Given the description of an element on the screen output the (x, y) to click on. 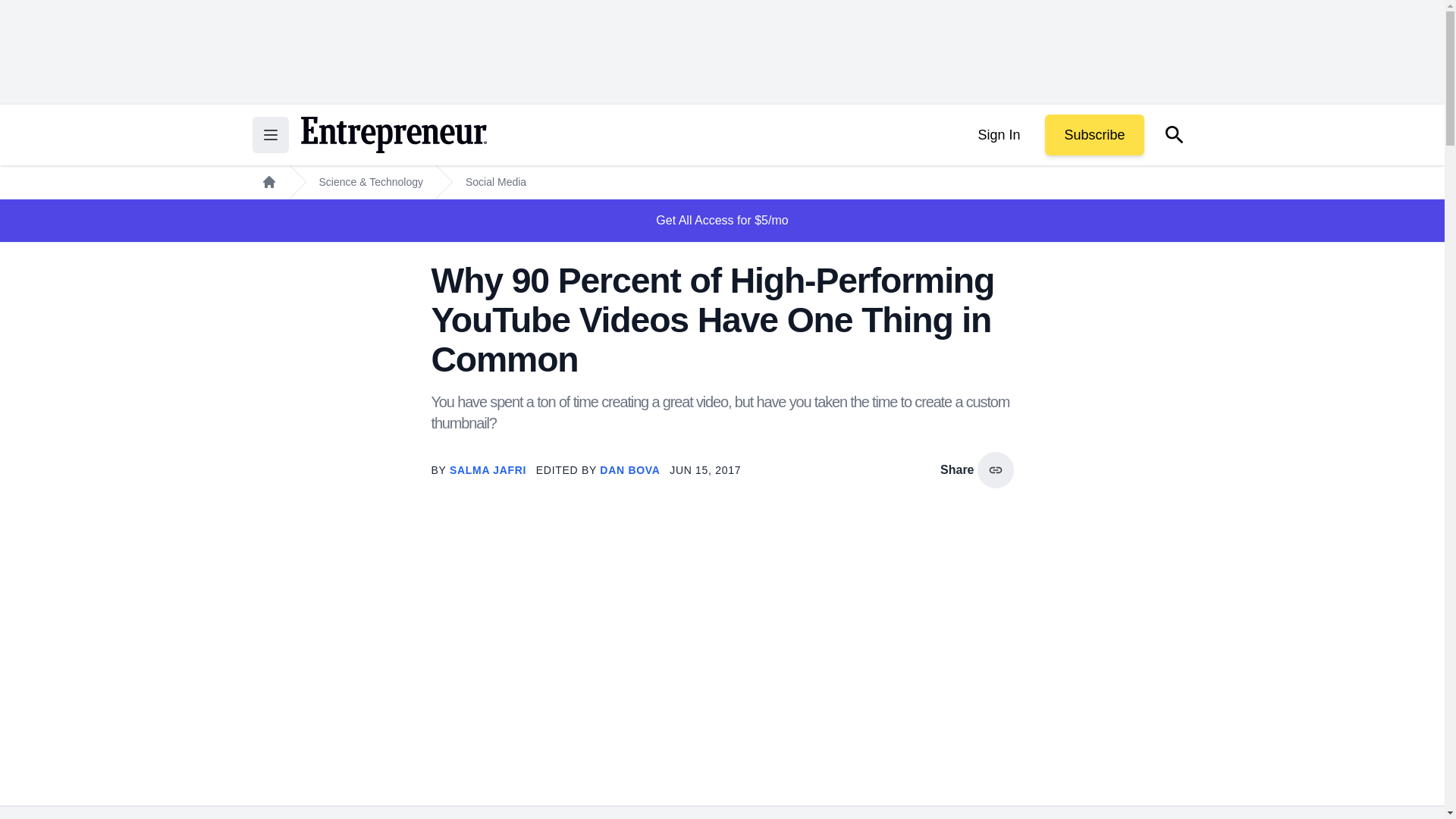
Return to the home page (392, 135)
Sign In (998, 134)
copy (994, 470)
Subscribe (1093, 134)
